Given the description of an element on the screen output the (x, y) to click on. 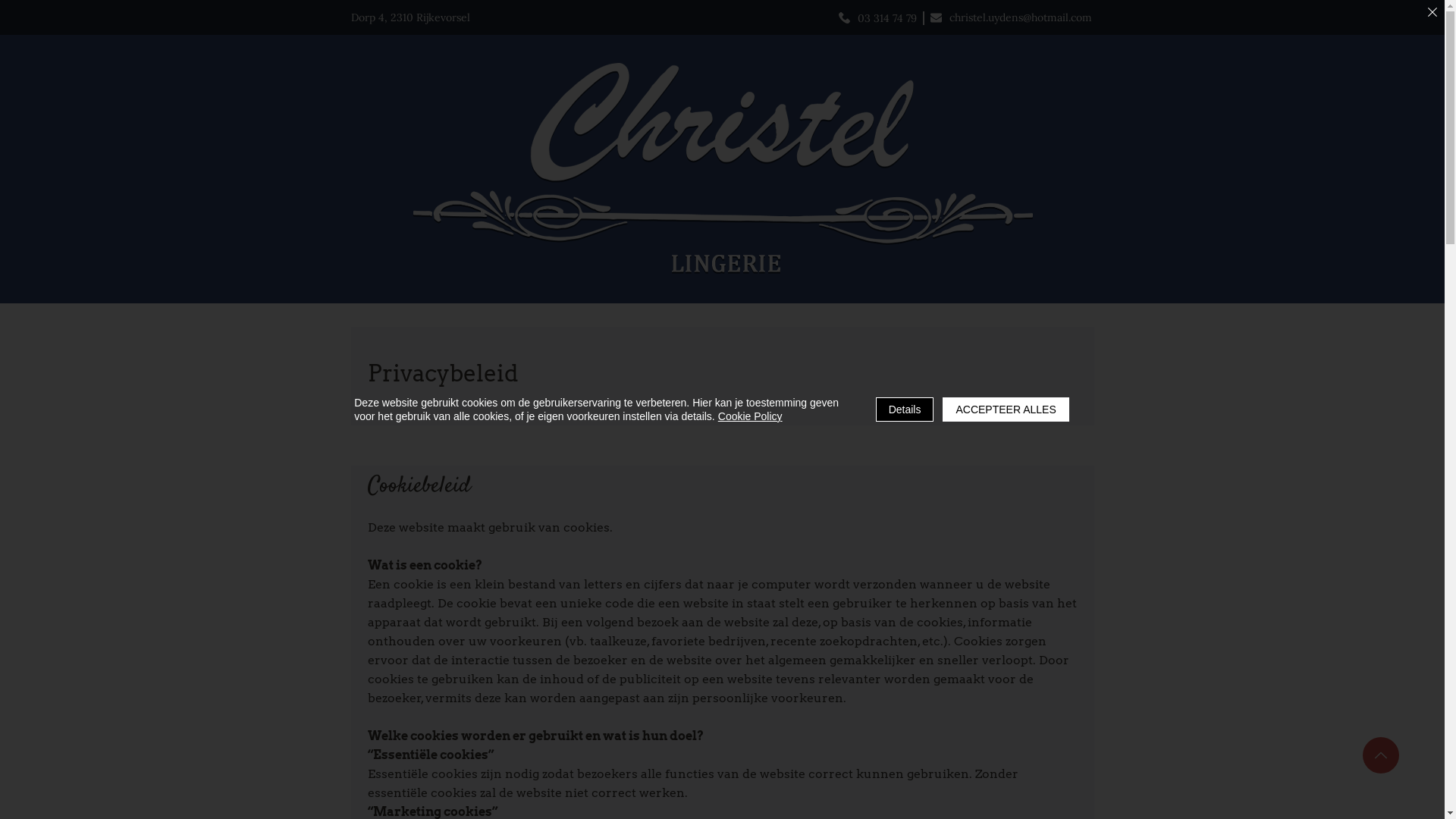
christel.uydens@hotmail.com Element type: text (1010, 17)
Cookie Policy Element type: text (750, 416)
Details Element type: text (904, 409)
03 314 74 79 Element type: text (877, 17)
ACCEPTEER ALLES Element type: text (1005, 409)
